Given the description of an element on the screen output the (x, y) to click on. 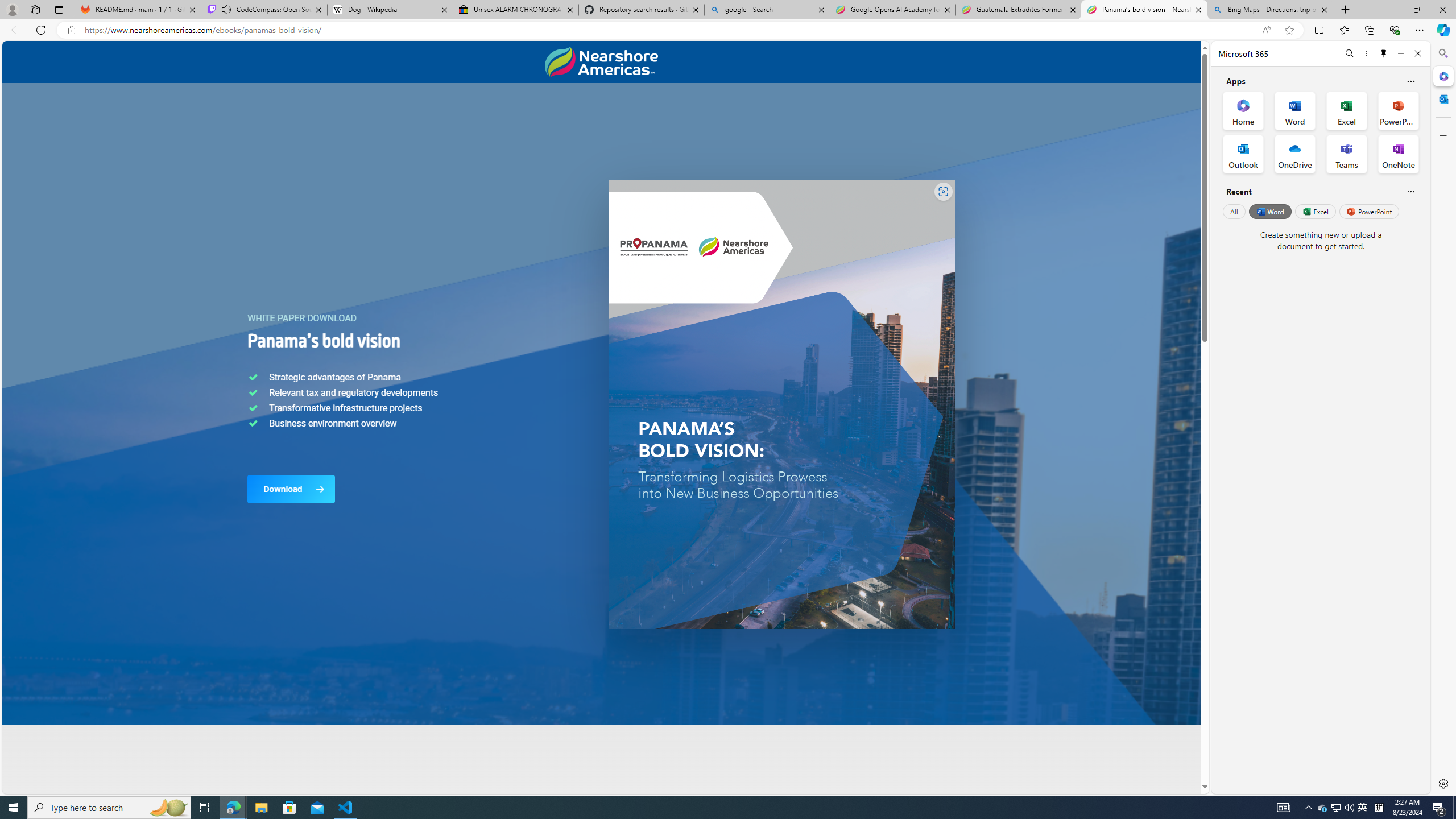
OneNote Office App (1398, 154)
Teams Office App (1346, 154)
Is this helpful? (1410, 191)
Mute tab (226, 8)
Class: center (601, 61)
